Given the description of an element on the screen output the (x, y) to click on. 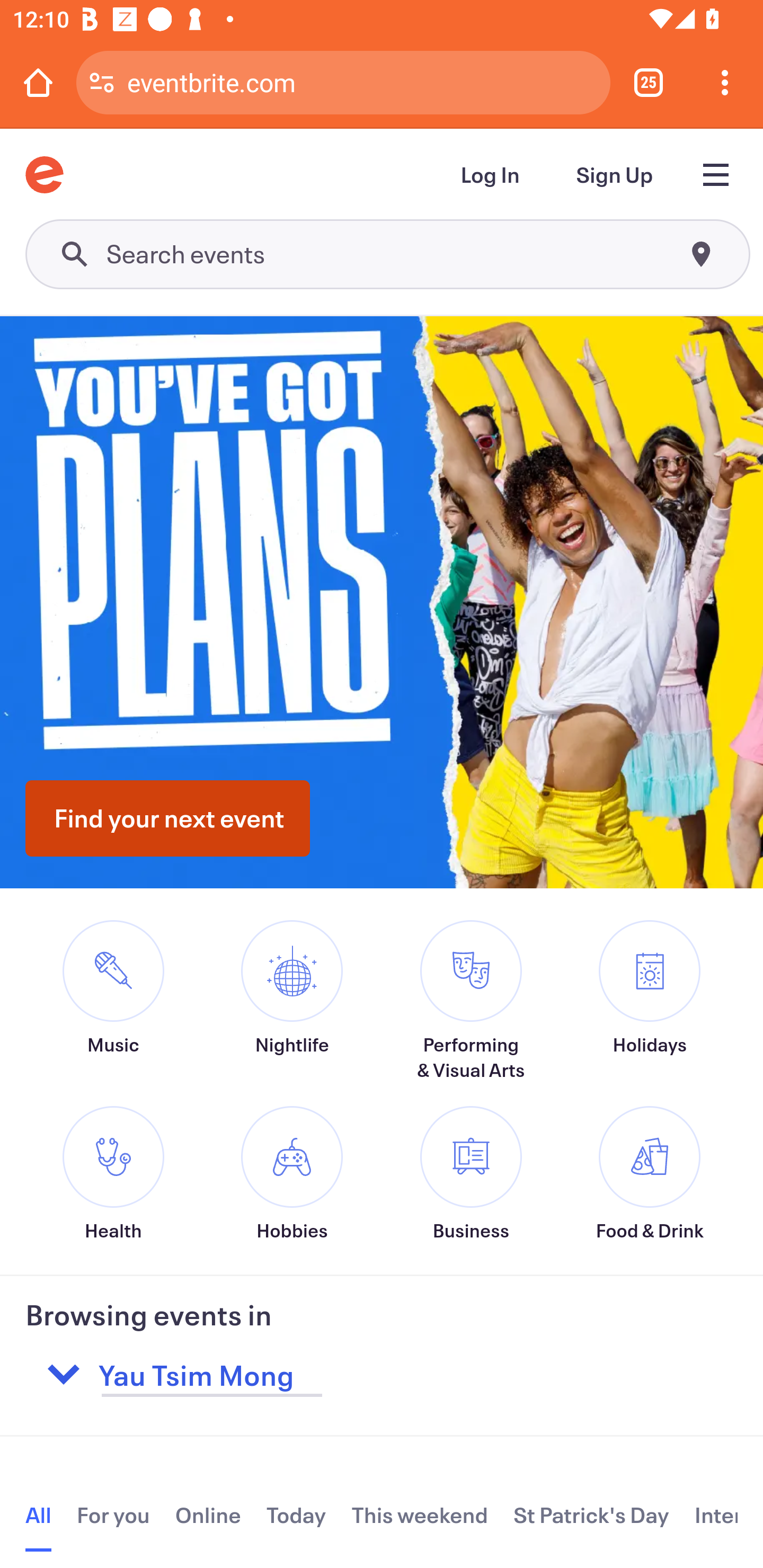
Open the home page (38, 82)
Connection is secure (101, 82)
Switch or close tabs (648, 82)
Customize and control Google Chrome (724, 82)
eventbrite.com (362, 82)
Log In (490, 174)
Sign Up (614, 174)
Home Eventbrite (44, 174)
Search (387, 253)
Find your next event (167, 818)
Music (113, 1012)
Nightlife (291, 1012)
Performing & Visual Arts (470, 1000)
Holidays (649, 1012)
Health (113, 1174)
Hobbies (291, 1174)
Business (470, 1174)
Food & Drink (649, 1174)
Yau Tsim Mong (298, 1373)
For you (113, 1515)
Online (207, 1515)
Today (296, 1515)
This weekend (419, 1515)
St Patrick's Day (591, 1515)
